Given the description of an element on the screen output the (x, y) to click on. 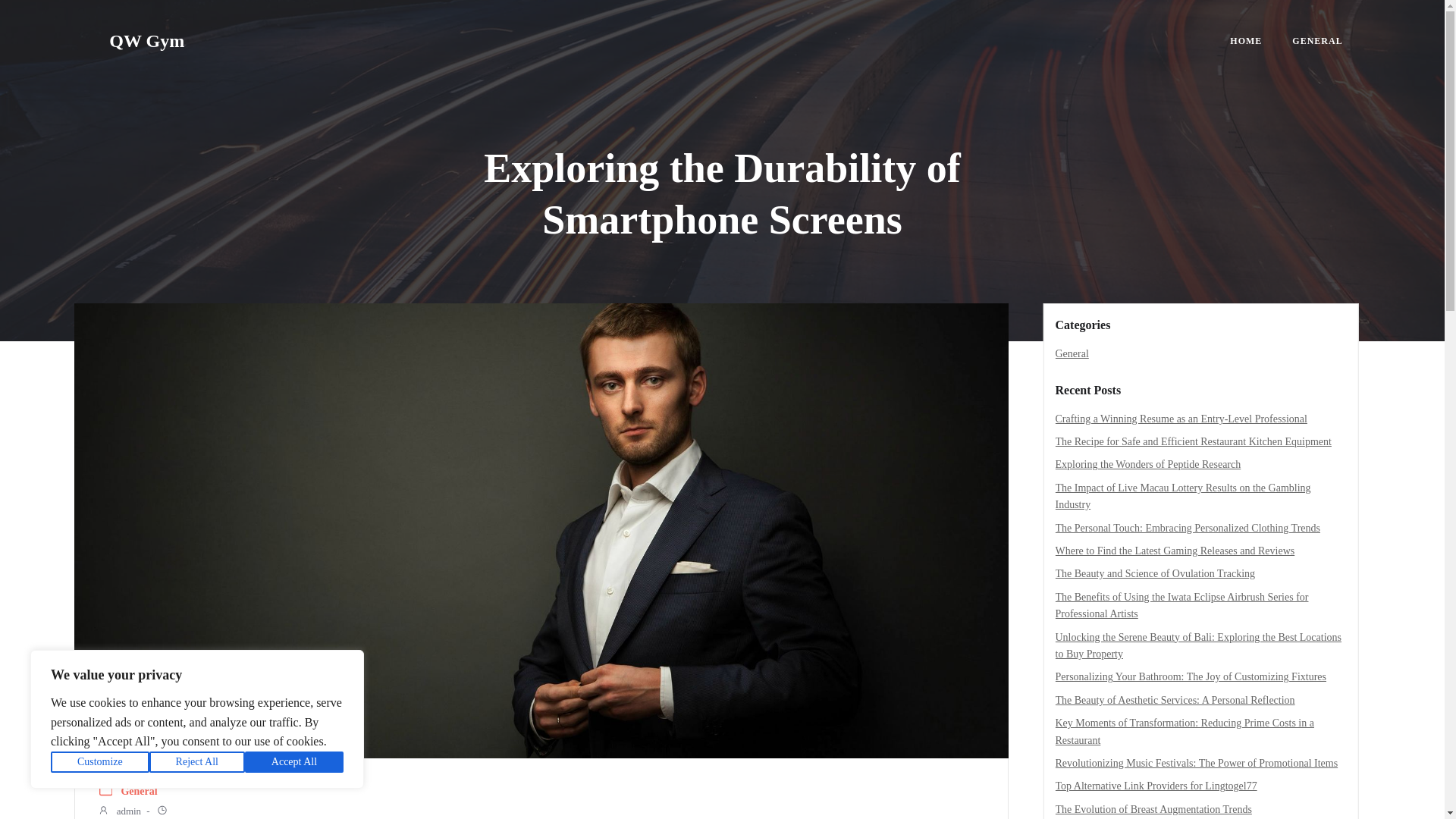
admin (119, 811)
Reject All (196, 762)
HOME (1246, 40)
Exploring the Wonders of Peptide Research (1148, 464)
Crafting a Winning Resume as an Entry-Level Professional (1181, 419)
Customize (99, 762)
The Personal Touch: Embracing Personalized Clothing Trends (1187, 527)
General (1072, 353)
Accept All (293, 762)
GENERAL (1317, 40)
General (138, 791)
QW Gym (146, 40)
